Given the description of an element on the screen output the (x, y) to click on. 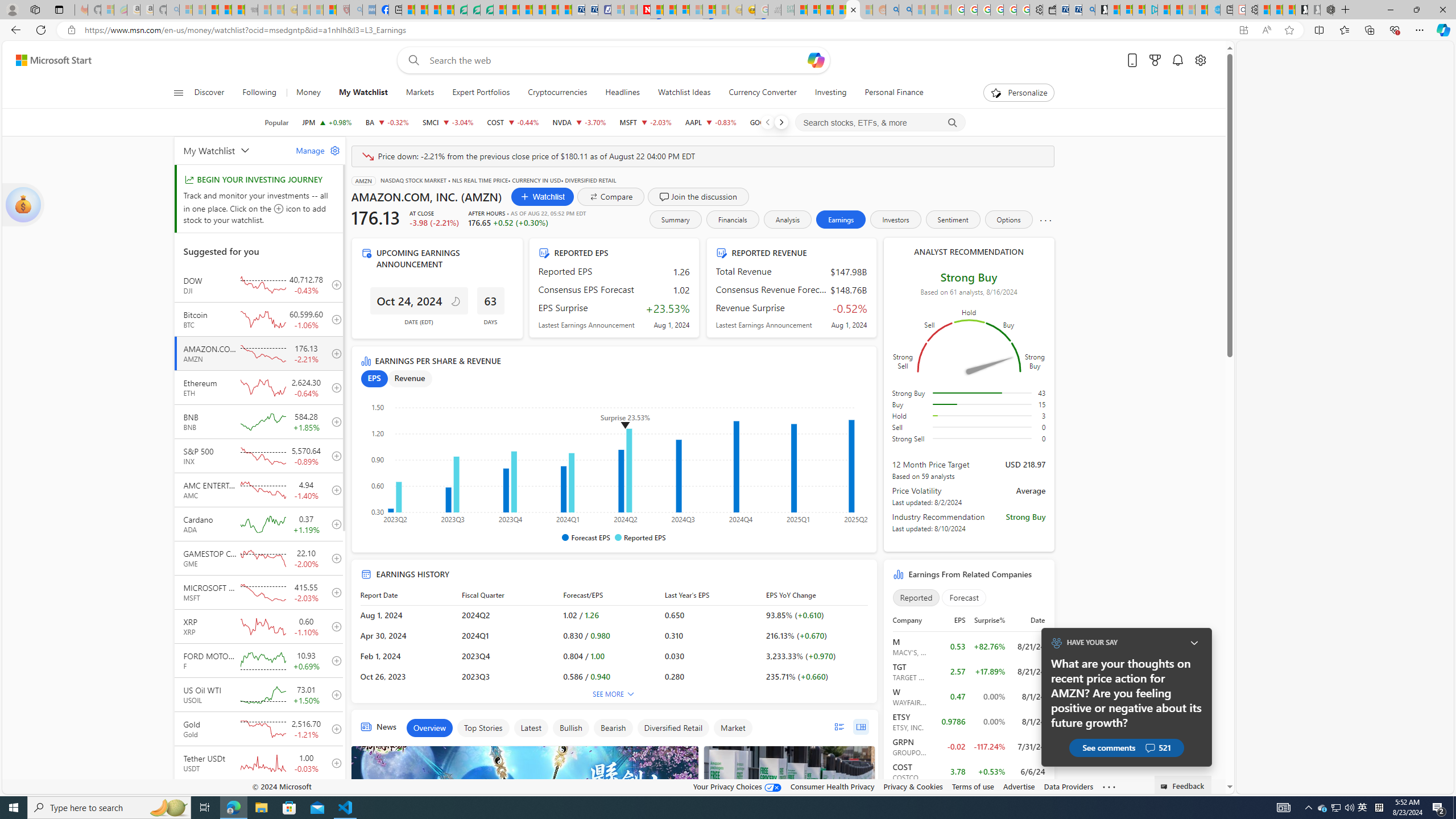
Combat Siege (251, 9)
Microsoft rewards (1154, 60)
Wallet (1049, 9)
My Watchlist (362, 92)
GOOG ALPHABET INC. decrease 165.49 -2.14 -1.28% (776, 122)
Data Providers (1068, 785)
Consumer Health Privacy (832, 786)
App available. Install Start Money (1243, 29)
BA THE BOEING COMPANY decrease 172.87 -0.56 -0.32% (387, 122)
